Given the description of an element on the screen output the (x, y) to click on. 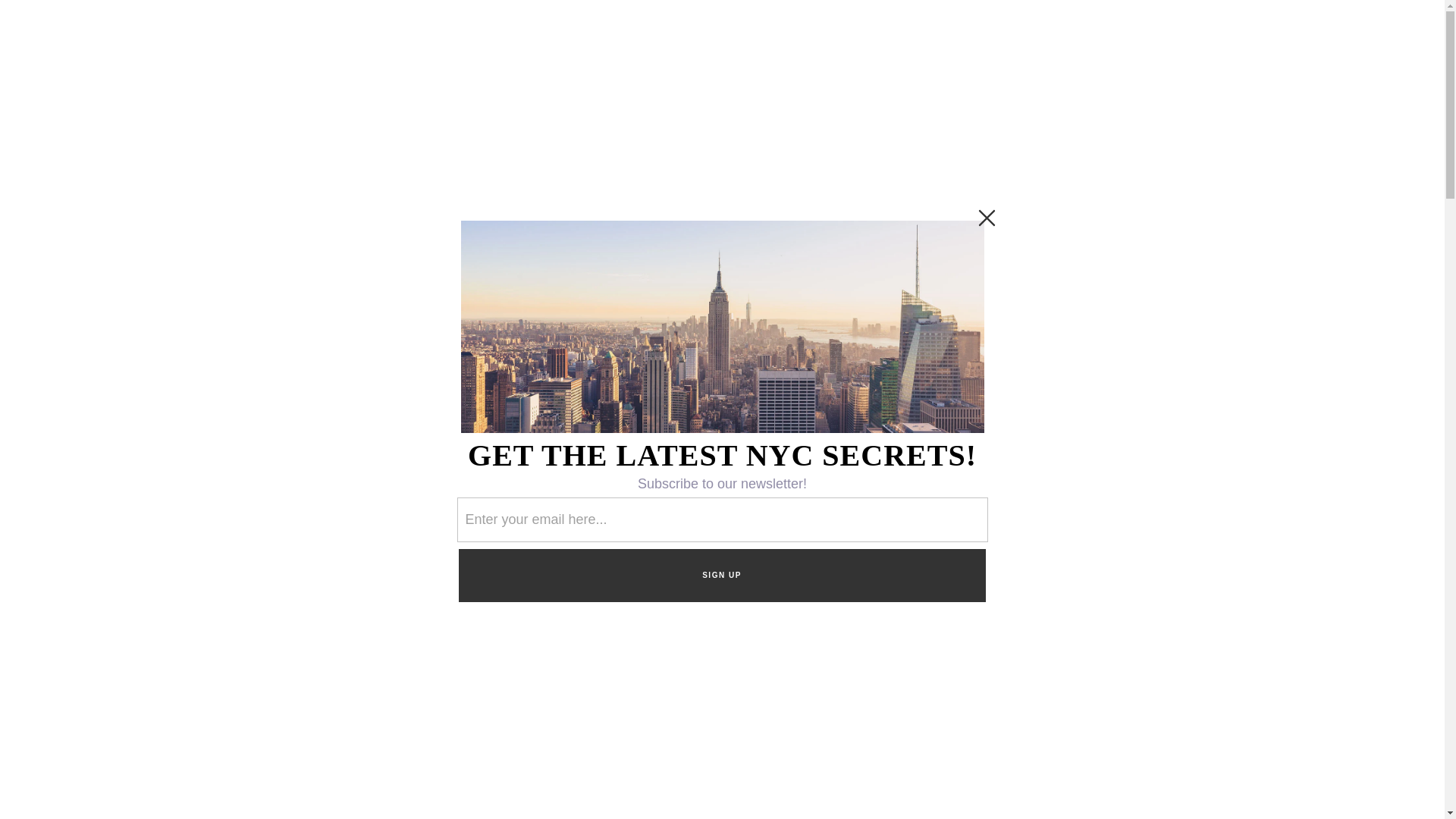
e99a09560c (992, 424)
7cff6a70fd (1031, 424)
Sign up (1030, 463)
3rd party ad content (721, 224)
off canvas button (91, 68)
